Given the description of an element on the screen output the (x, y) to click on. 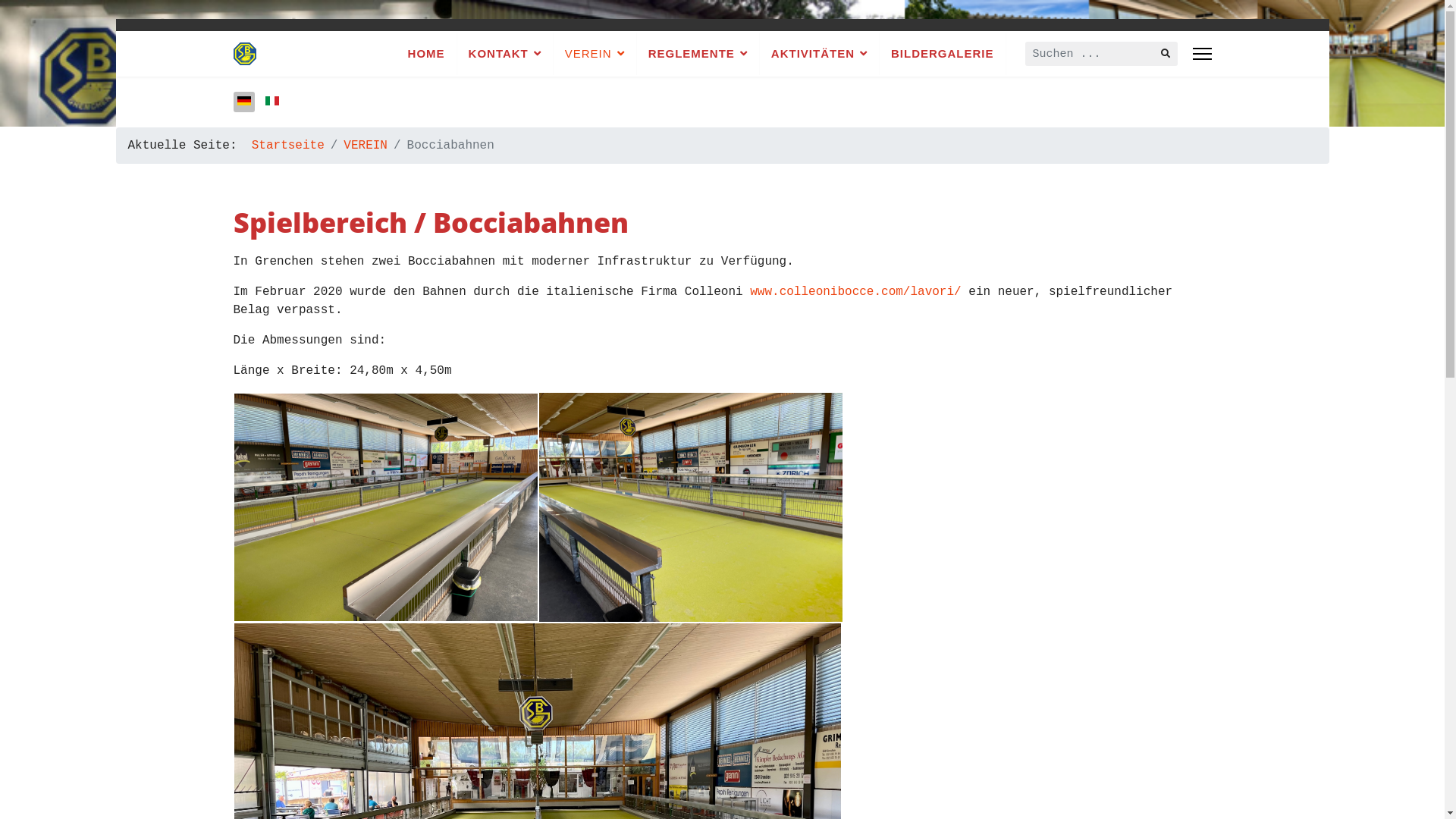
Italienisch Element type: hover (272, 100)
Menu Element type: hover (1201, 53)
VEREIN Element type: text (594, 53)
www.colleonibocce.com/lavori/ Element type: text (854, 291)
Deutsch Element type: hover (243, 100)
REGLEMENTE Element type: text (698, 53)
KONTAKT Element type: text (504, 53)
HOME Element type: text (426, 53)
VEREIN Element type: text (365, 145)
Startseite Element type: text (287, 145)
BILDERGALERIE Element type: text (942, 53)
